Given the description of an element on the screen output the (x, y) to click on. 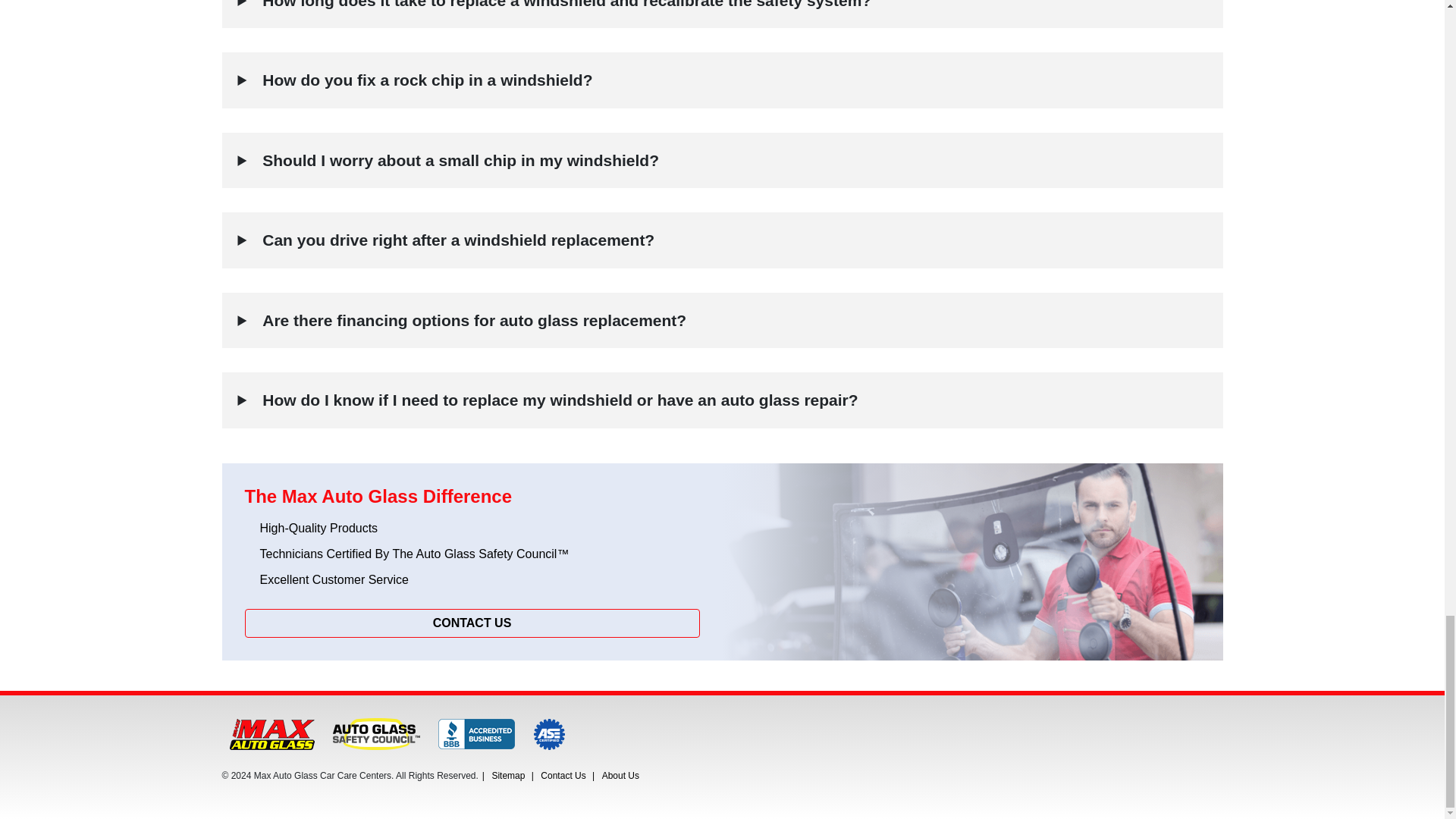
Sitemap (508, 775)
About Us (620, 775)
Contact Us (562, 775)
CONTACT US (471, 623)
